Given the description of an element on the screen output the (x, y) to click on. 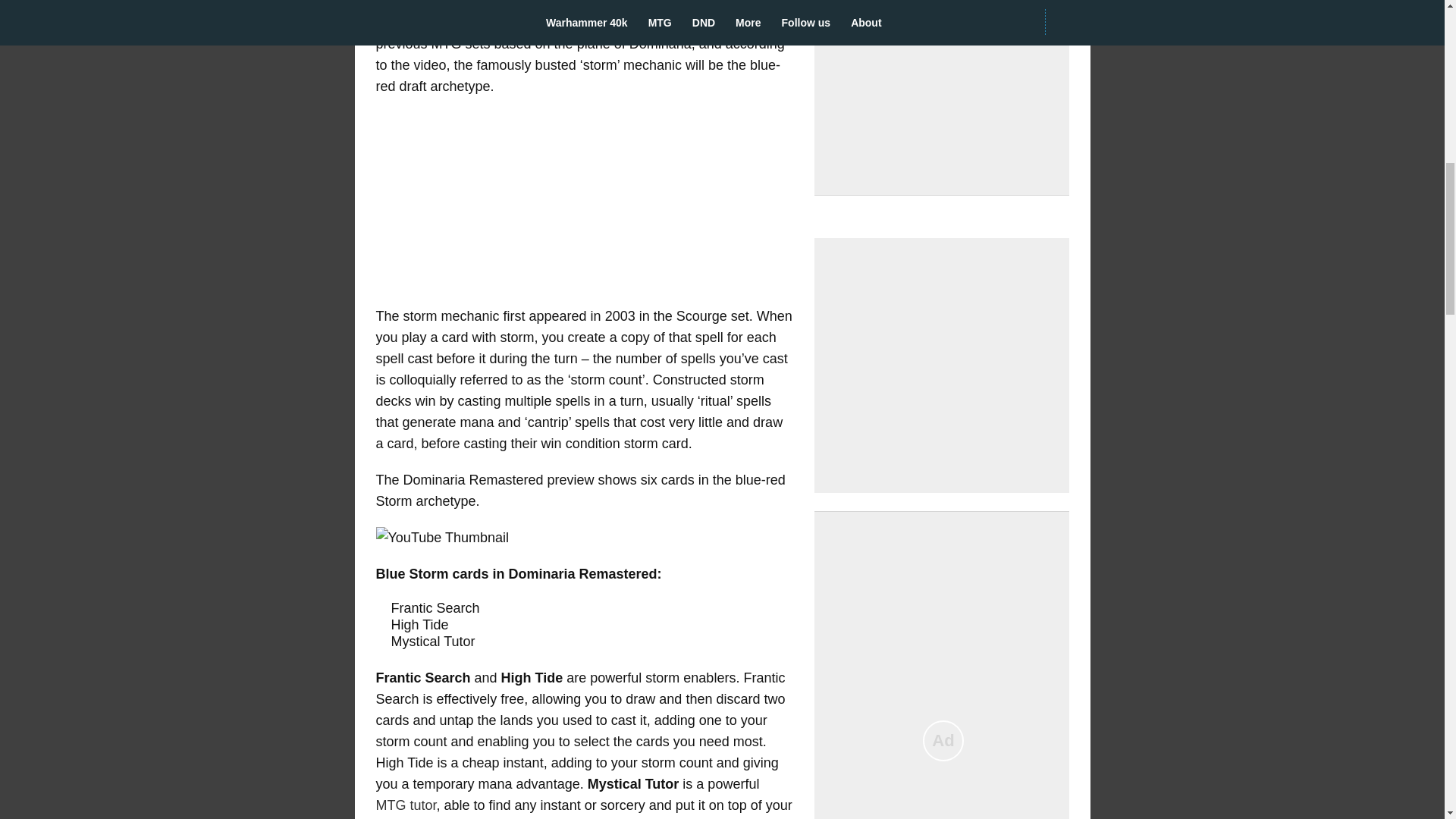
MTG tutor (405, 805)
